Given the description of an element on the screen output the (x, y) to click on. 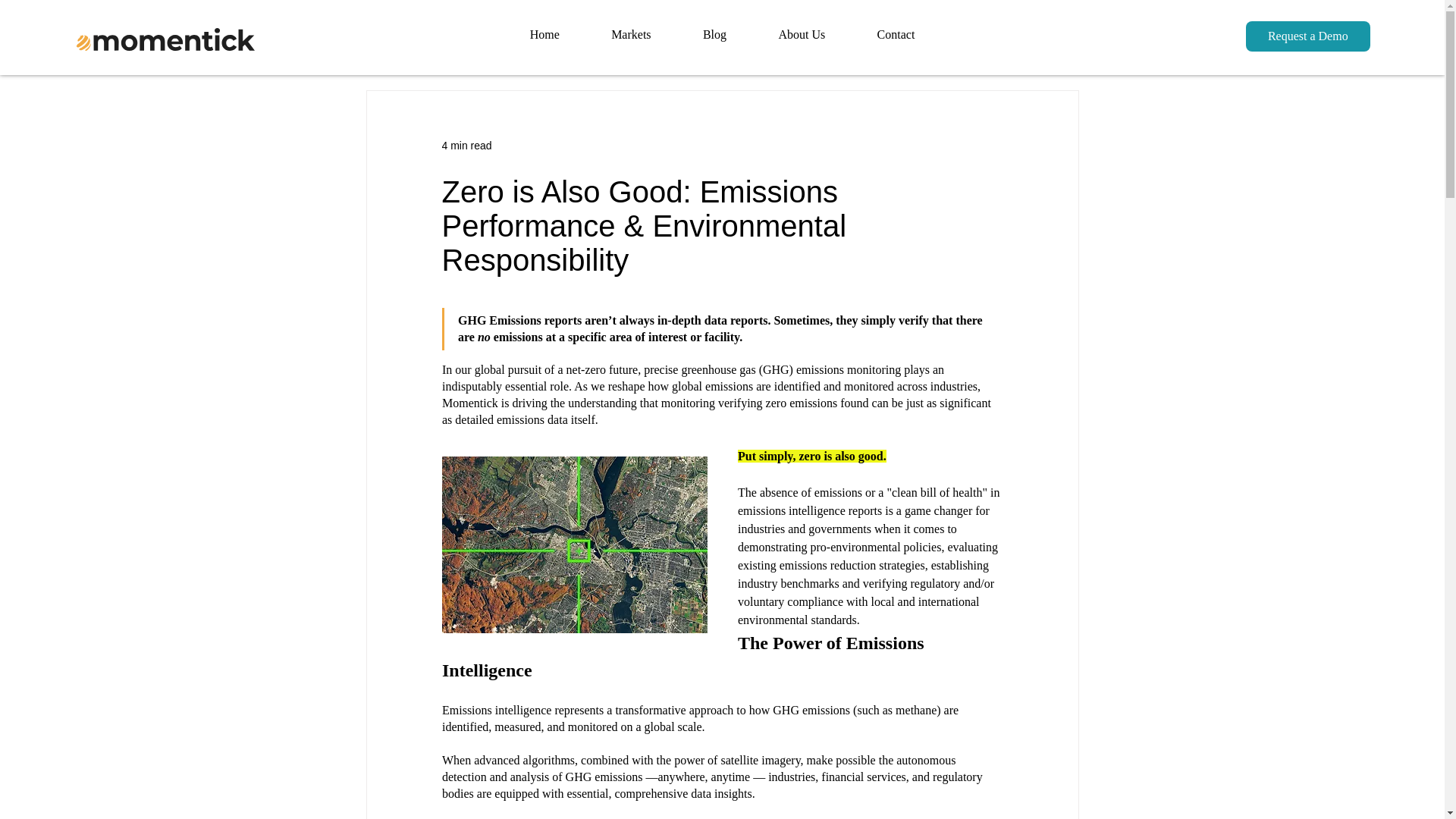
Blog (714, 35)
Home (543, 35)
Request a Demo (1308, 36)
4 min read (466, 145)
About Us (801, 35)
Contact (895, 35)
